Given the description of an element on the screen output the (x, y) to click on. 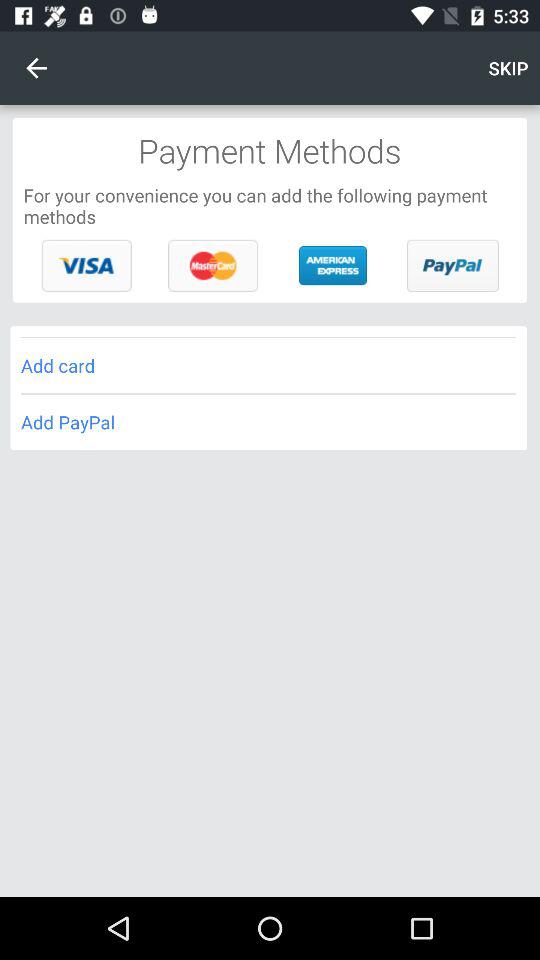
select add card (268, 365)
